Given the description of an element on the screen output the (x, y) to click on. 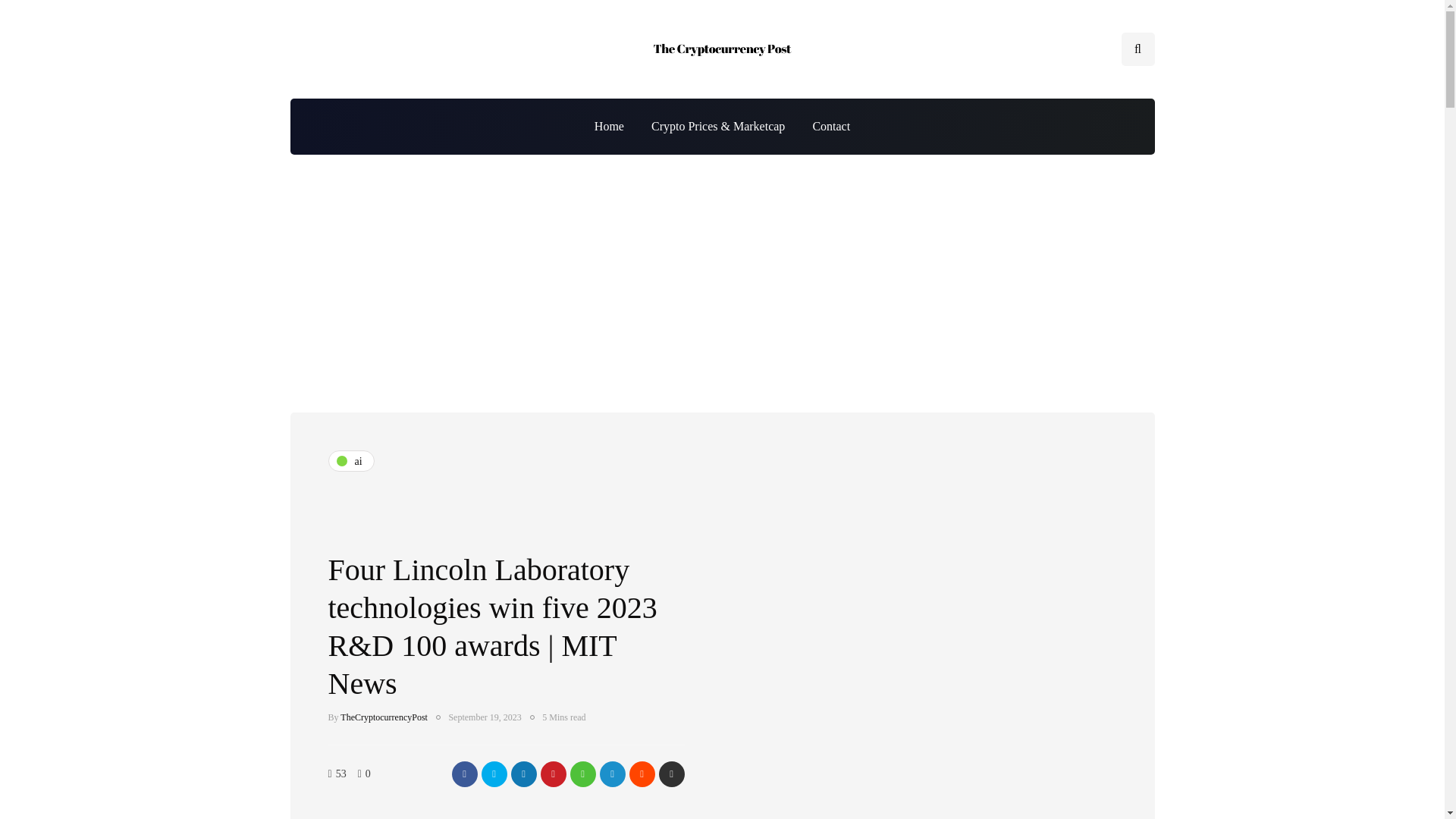
Share to WhatsApp (582, 774)
Share on Reddit (641, 774)
Share with Facebook (464, 774)
Share with LinkedIn (524, 774)
Share by Email (671, 774)
Share to Telegram (611, 774)
Contact (830, 126)
Home (608, 126)
Pin this (553, 774)
Posts by TheCryptocurrencyPost (384, 716)
ai (350, 460)
TheCryptocurrencyPost (384, 716)
Tweet this (493, 774)
